Given the description of an element on the screen output the (x, y) to click on. 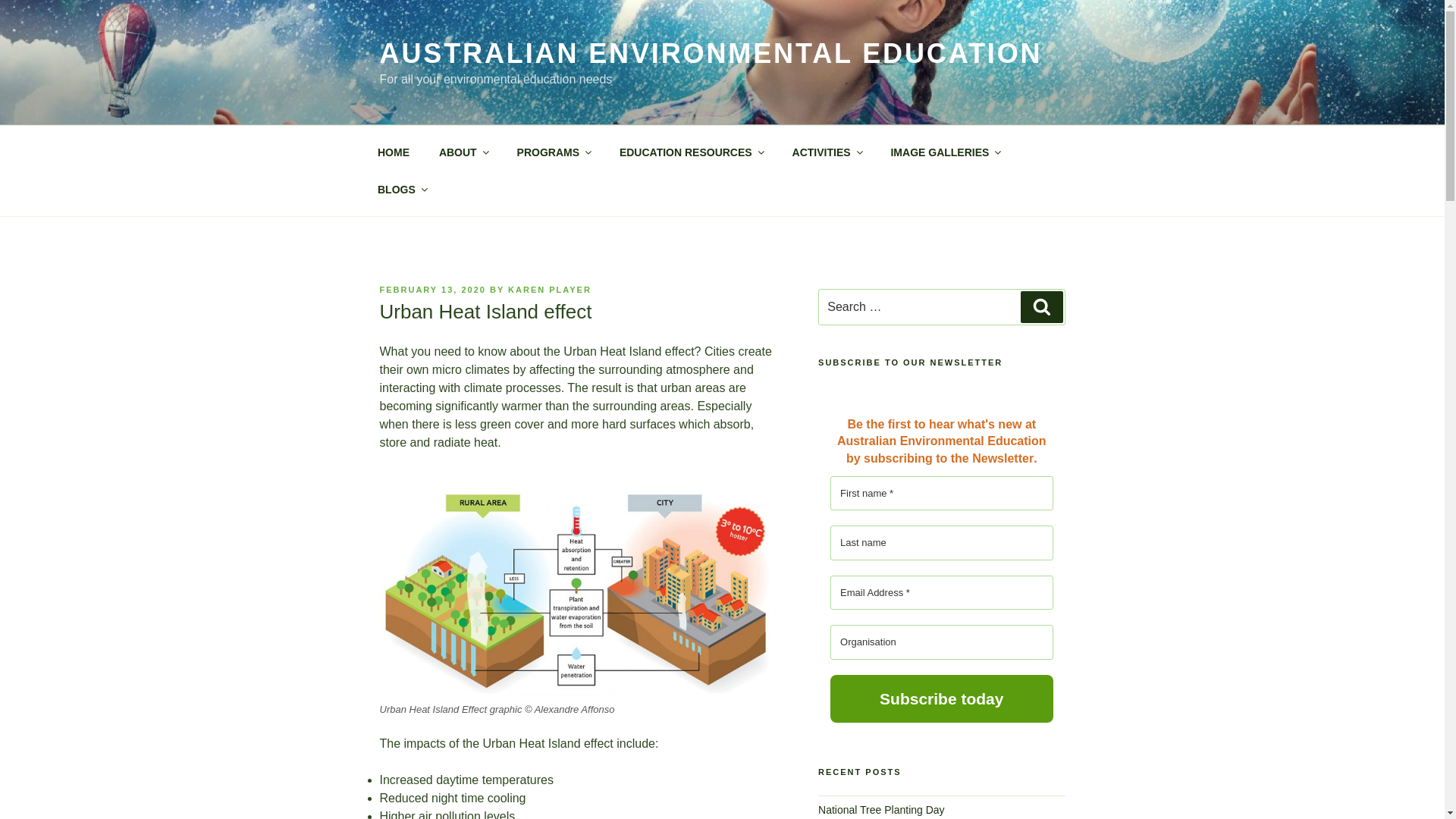
Email Address (940, 592)
Subscribe today (940, 698)
PROGRAMS (552, 151)
AUSTRALIAN ENVIRONMENTAL EDUCATION (710, 52)
HOME (393, 151)
Last name (940, 542)
Organisation (940, 642)
First name (940, 493)
ABOUT (462, 151)
